Given the description of an element on the screen output the (x, y) to click on. 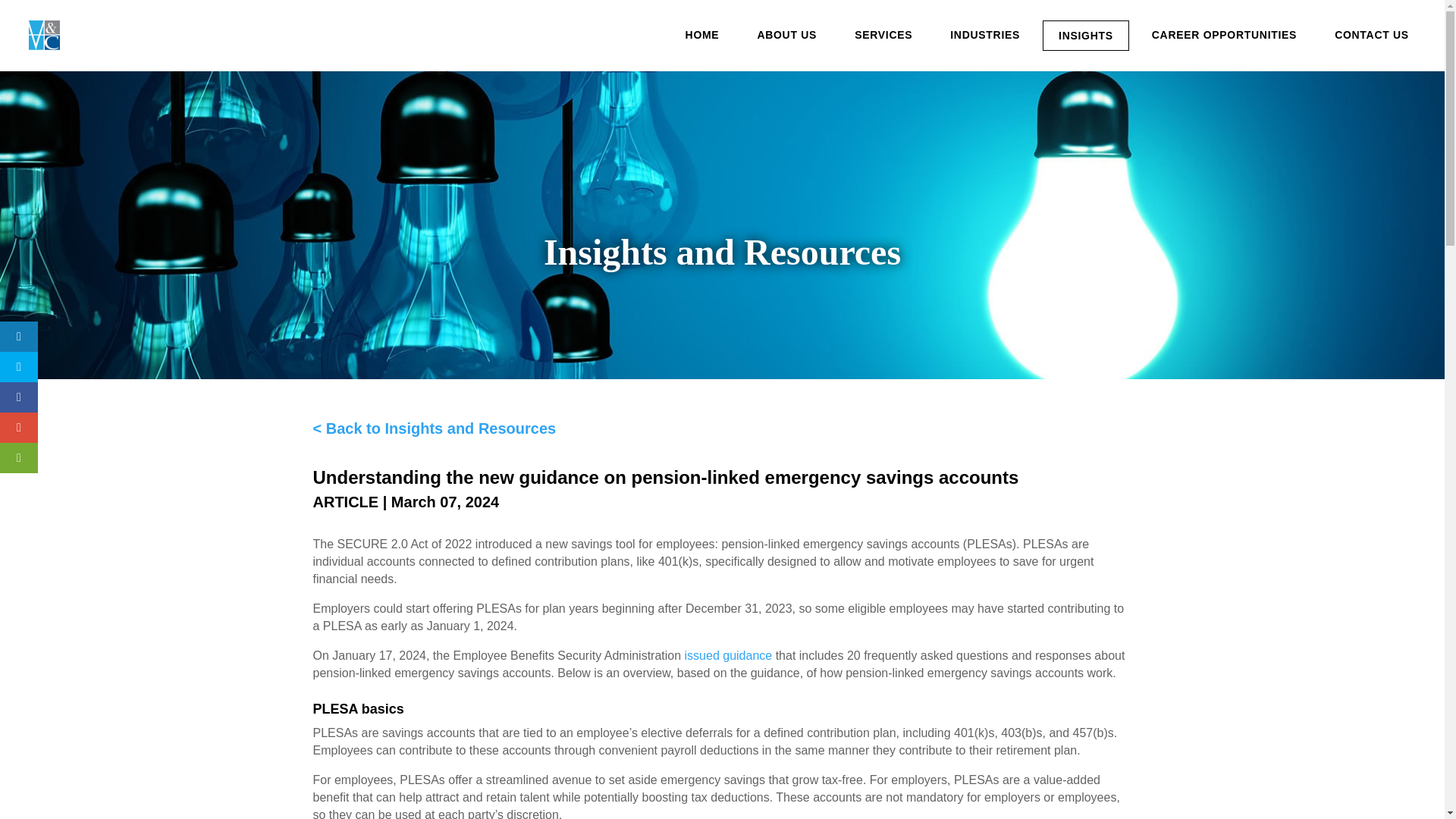
ABOUT US (786, 35)
1418343712 (44, 34)
CAREER OPPORTUNITIES (1224, 35)
CONTACT US (1371, 35)
SERVICES (883, 35)
issued guidance (728, 655)
INDUSTRIES (984, 35)
INSIGHTS (1085, 35)
HOME (702, 35)
